Given the description of an element on the screen output the (x, y) to click on. 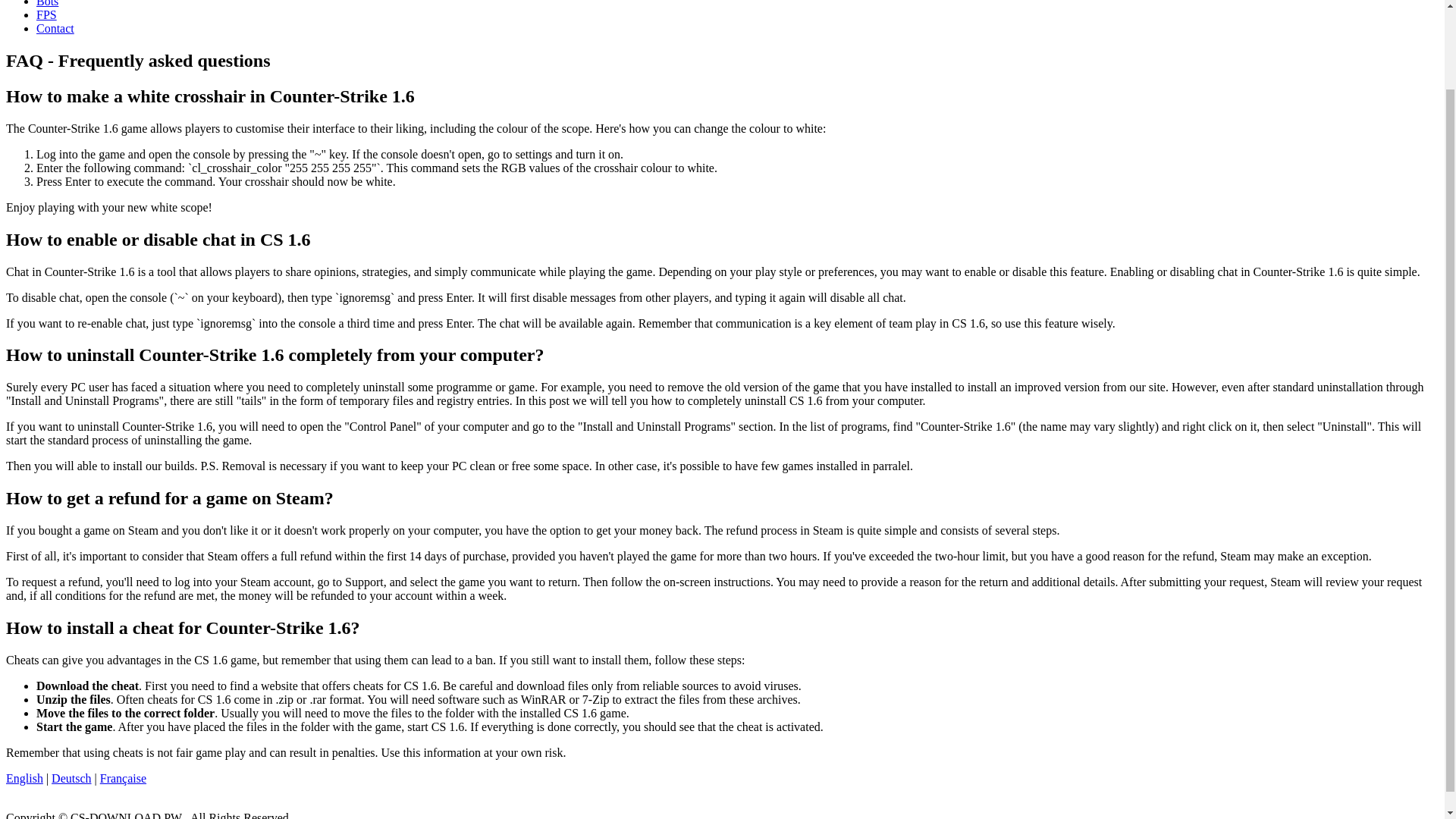
FPS (46, 14)
Contact (55, 28)
English (24, 778)
Deutsch (70, 778)
Bots (47, 3)
